Given the description of an element on the screen output the (x, y) to click on. 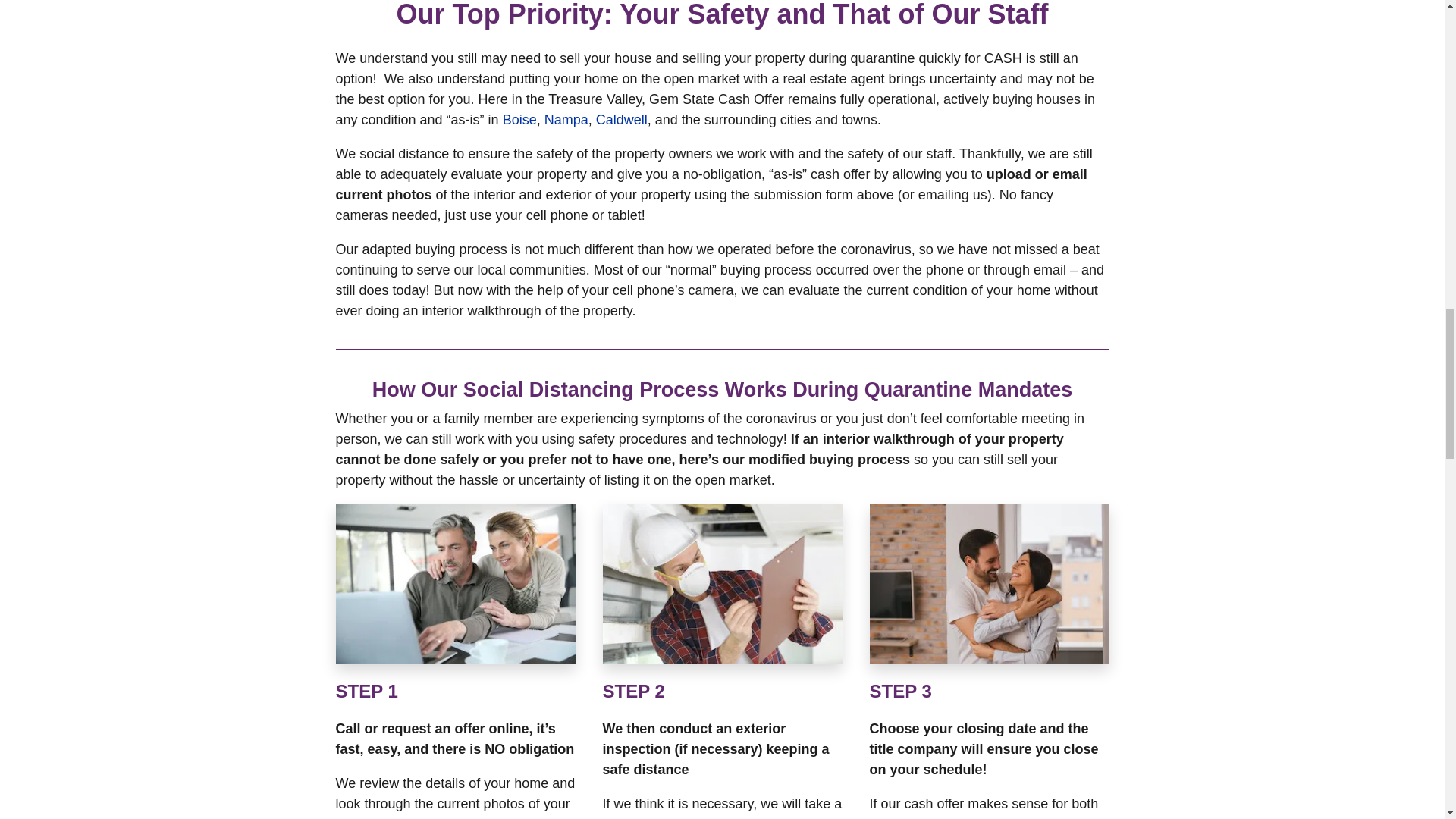
Nampa (566, 119)
Caldwell (621, 119)
Boise (519, 119)
